Given the description of an element on the screen output the (x, y) to click on. 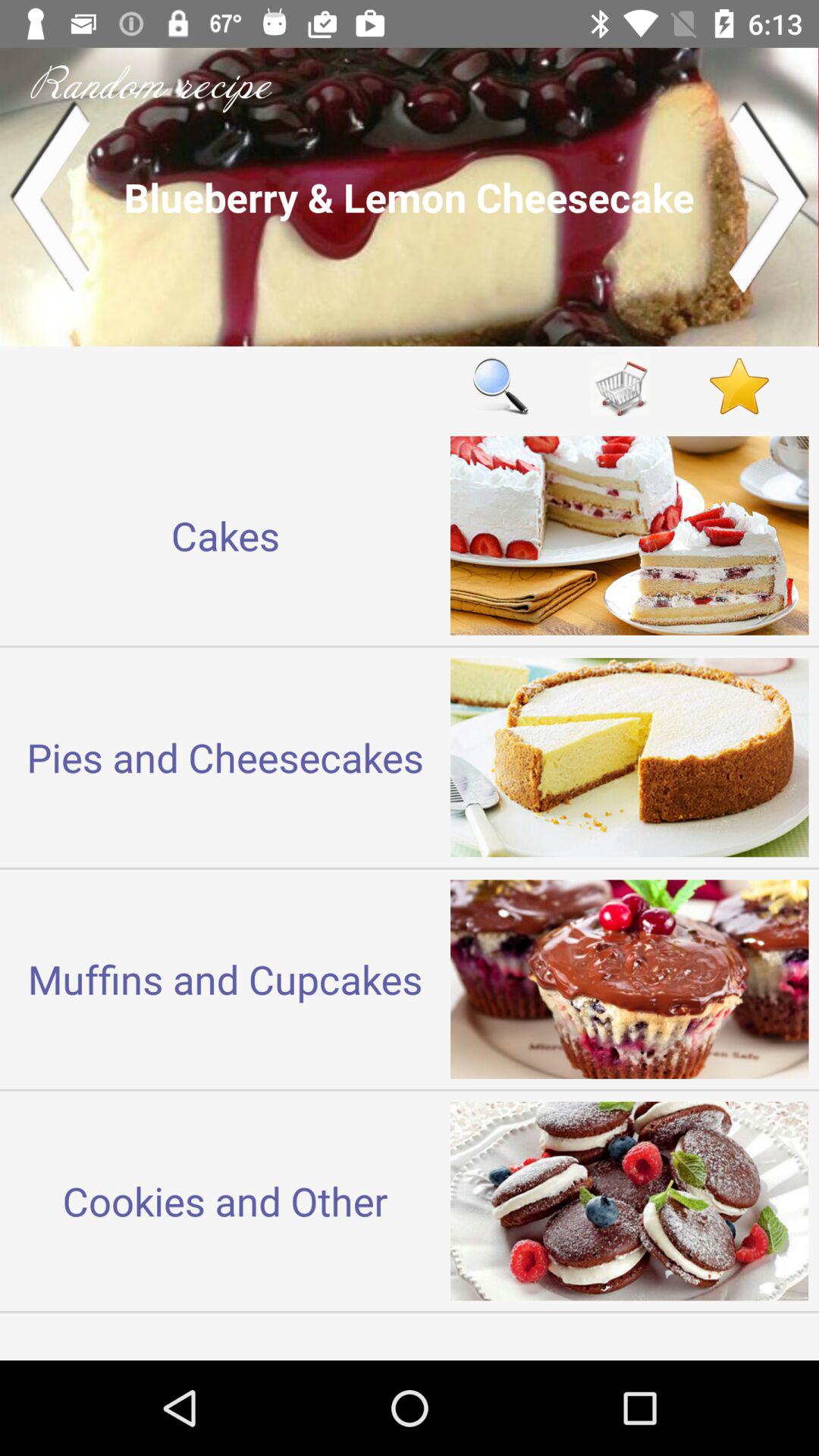
open a image (409, 196)
